Given the description of an element on the screen output the (x, y) to click on. 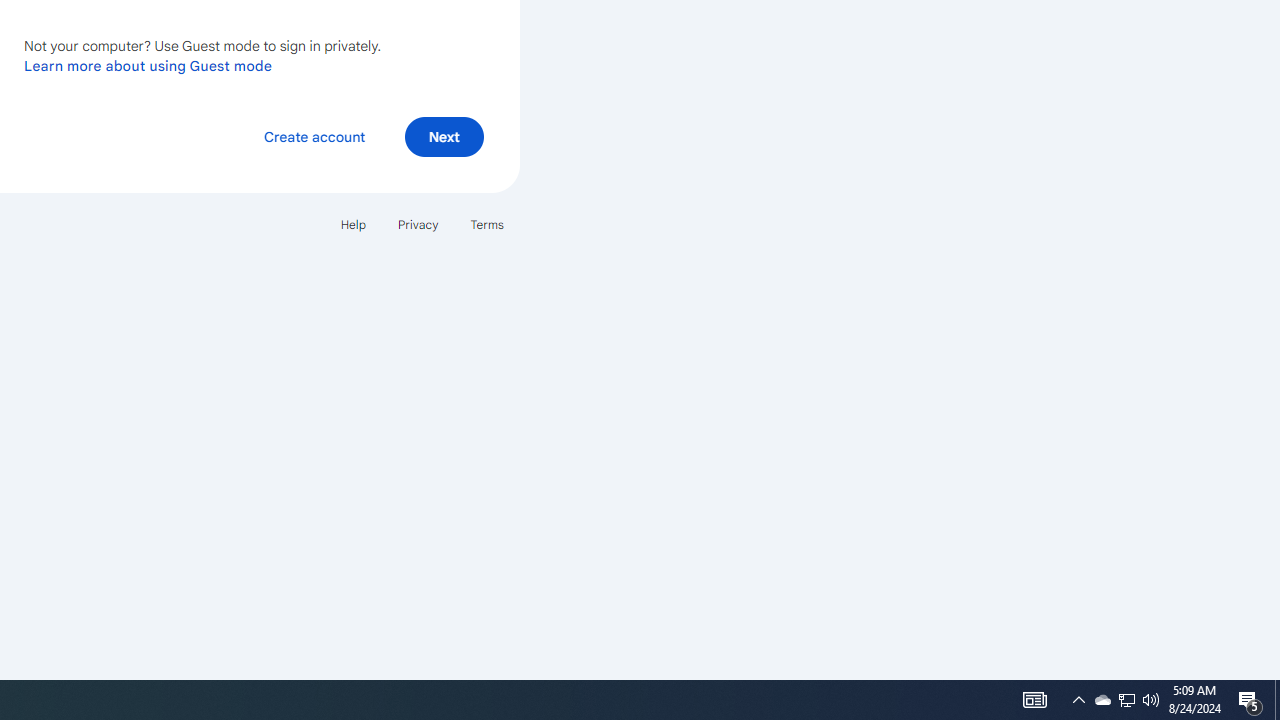
Create account (314, 135)
Learn more about using Guest mode (148, 65)
